Given the description of an element on the screen output the (x, y) to click on. 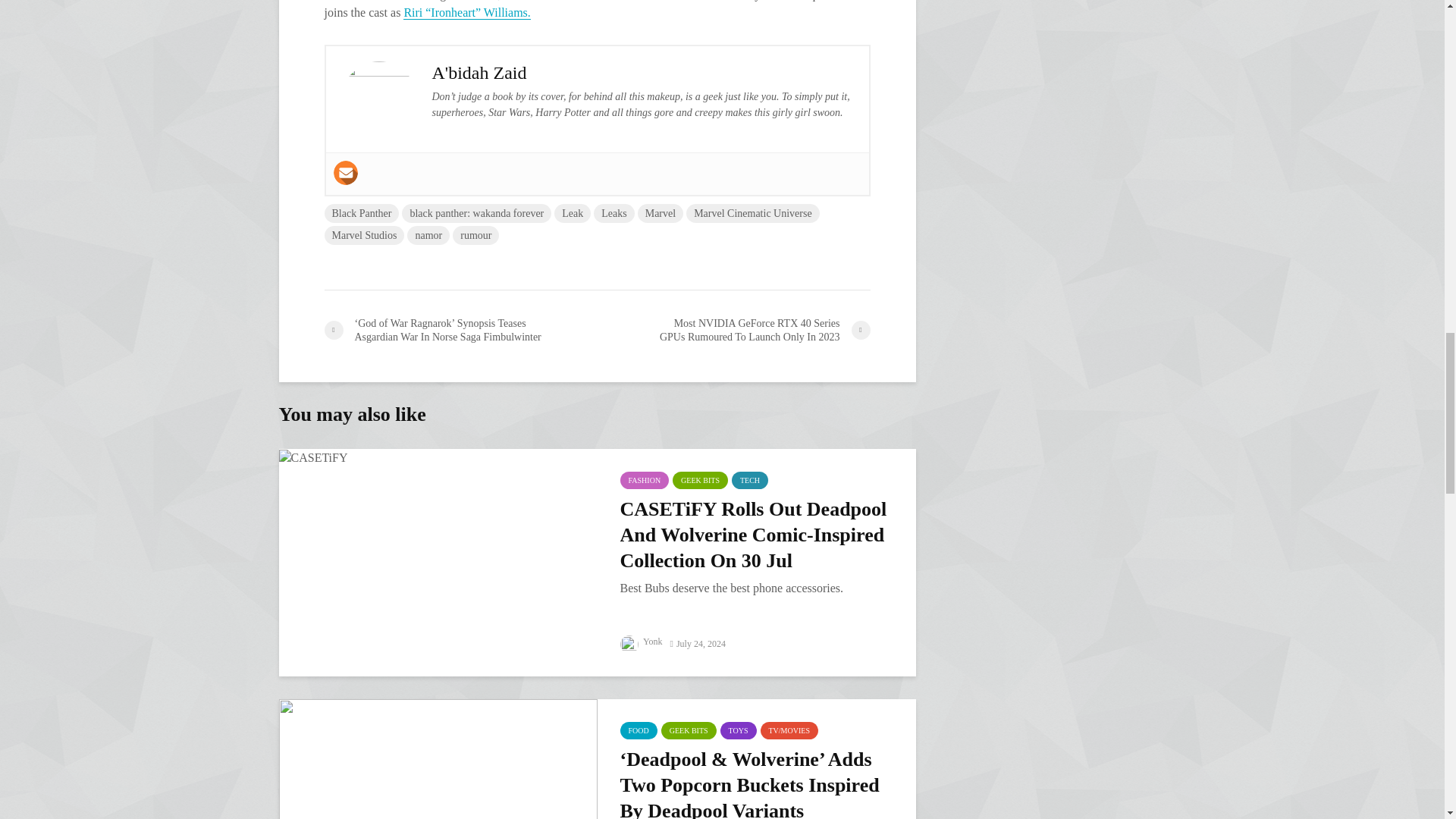
User email (345, 172)
